Given the description of an element on the screen output the (x, y) to click on. 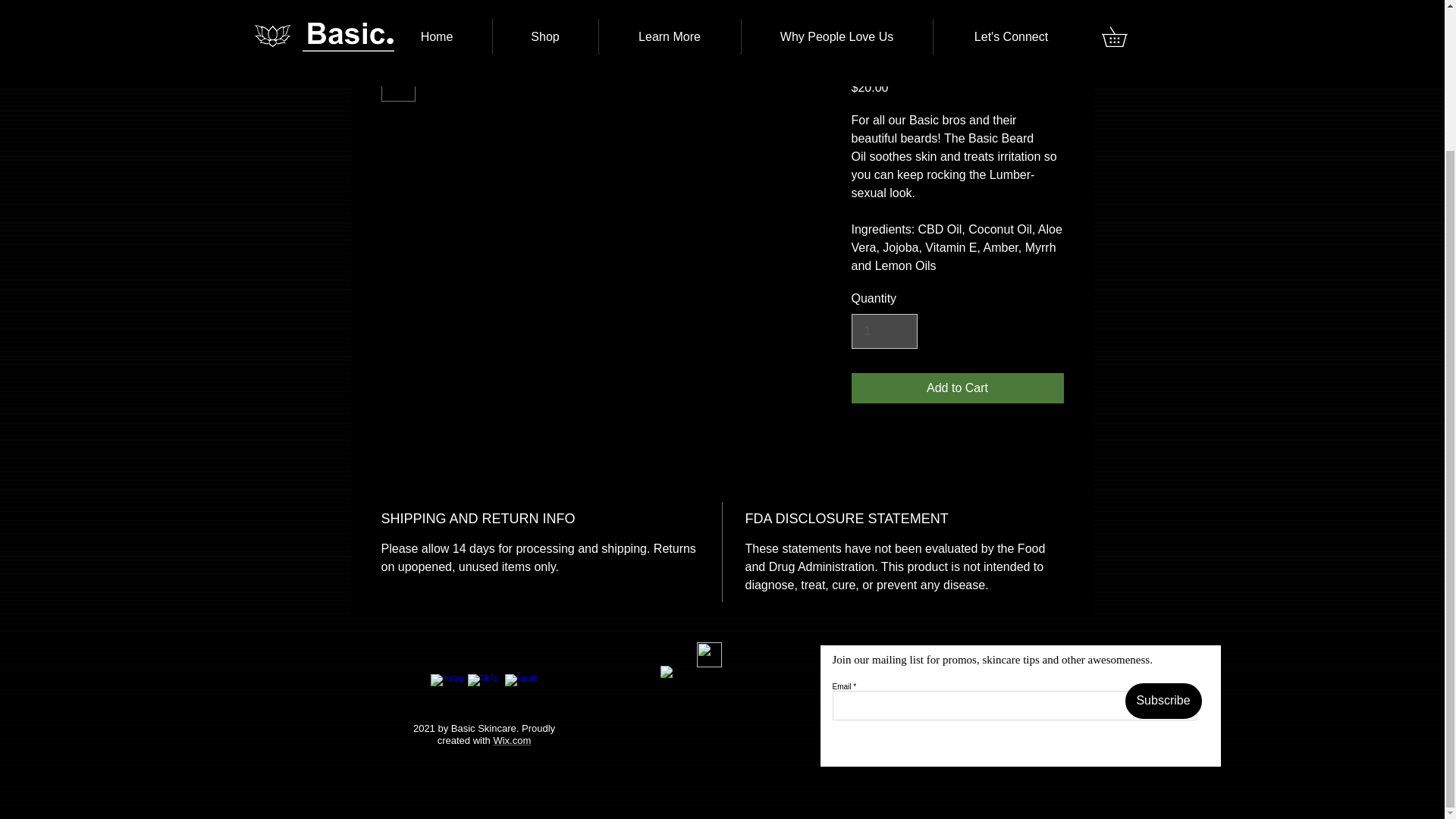
Wix.com (512, 740)
Subscribe (1163, 701)
1 (883, 330)
Add to Cart (956, 388)
